Given the description of an element on the screen output the (x, y) to click on. 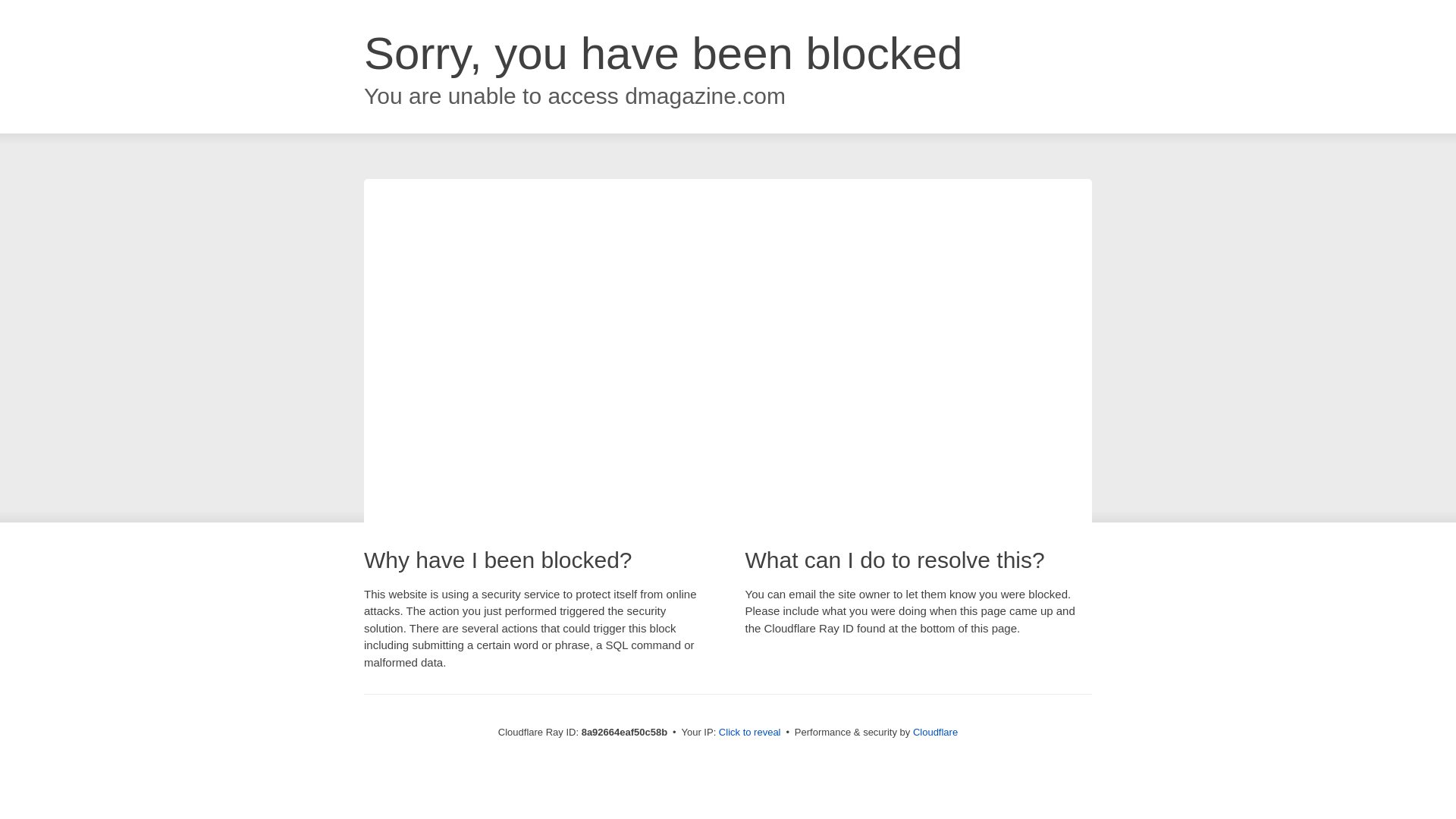
Click to reveal (749, 732)
Cloudflare (935, 731)
